Given the description of an element on the screen output the (x, y) to click on. 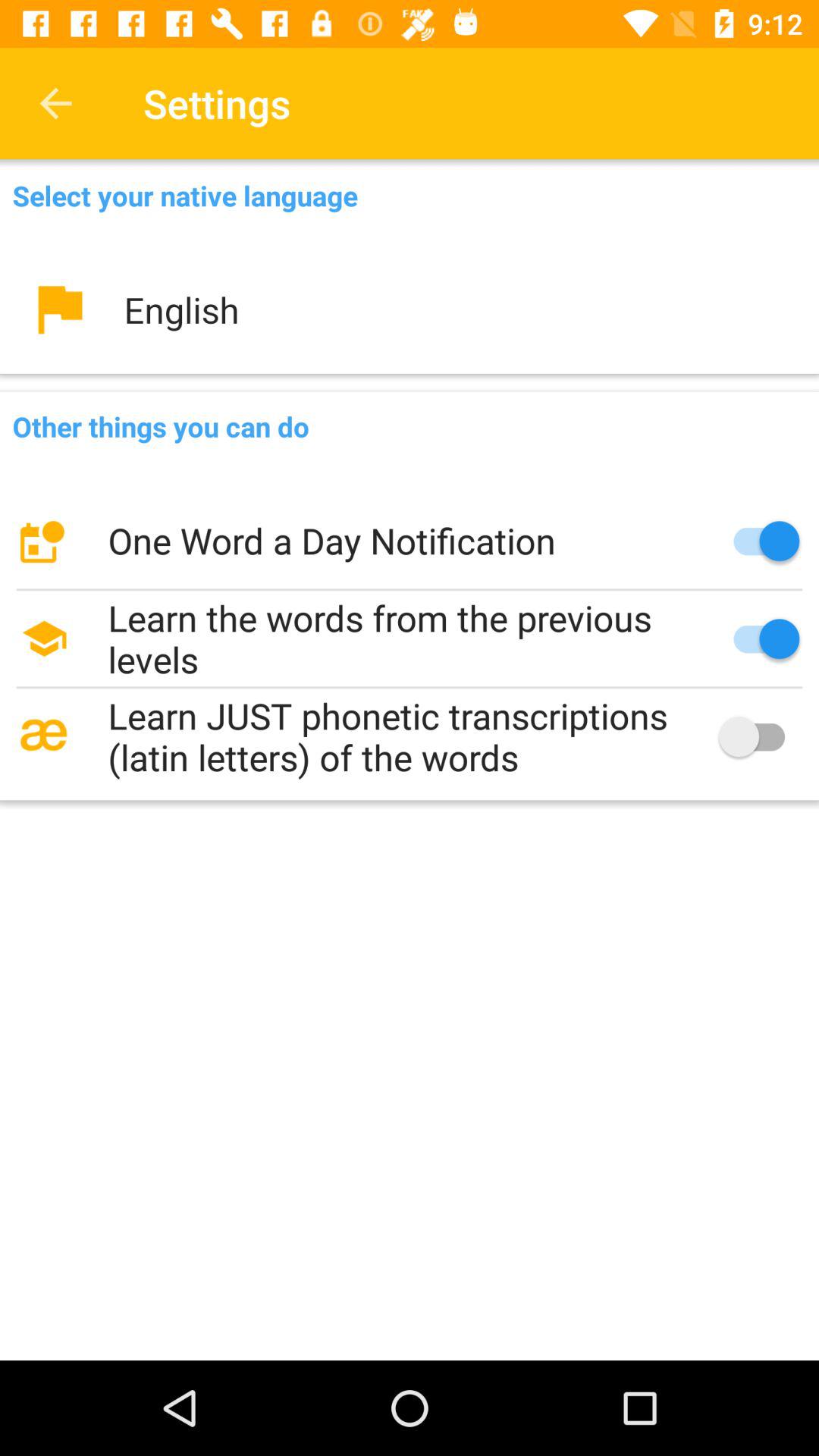
flip until learn just phonetic icon (409, 736)
